Given the description of an element on the screen output the (x, y) to click on. 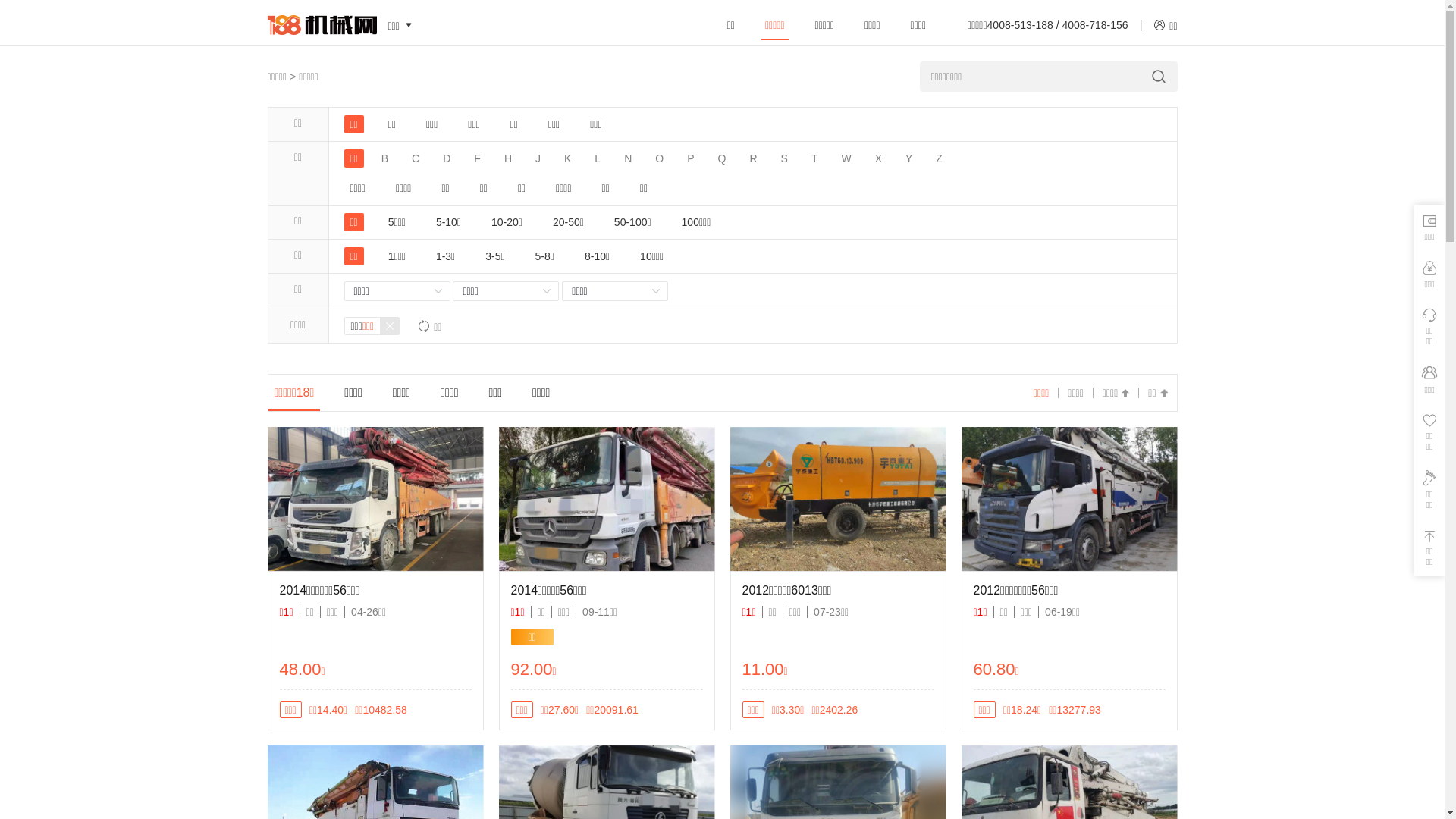
B Element type: text (384, 158)
H Element type: text (507, 158)
Q Element type: text (722, 158)
N Element type: text (627, 158)
O Element type: text (659, 158)
P Element type: text (689, 158)
D Element type: text (446, 158)
T Element type: text (814, 158)
F Element type: text (476, 158)
L Element type: text (597, 158)
R Element type: text (752, 158)
C Element type: text (415, 158)
Y Element type: text (908, 158)
S Element type: text (784, 158)
J Element type: text (537, 158)
W Element type: text (845, 158)
Z Element type: text (938, 158)
K Element type: text (567, 158)
X Element type: text (878, 158)
